Given the description of an element on the screen output the (x, y) to click on. 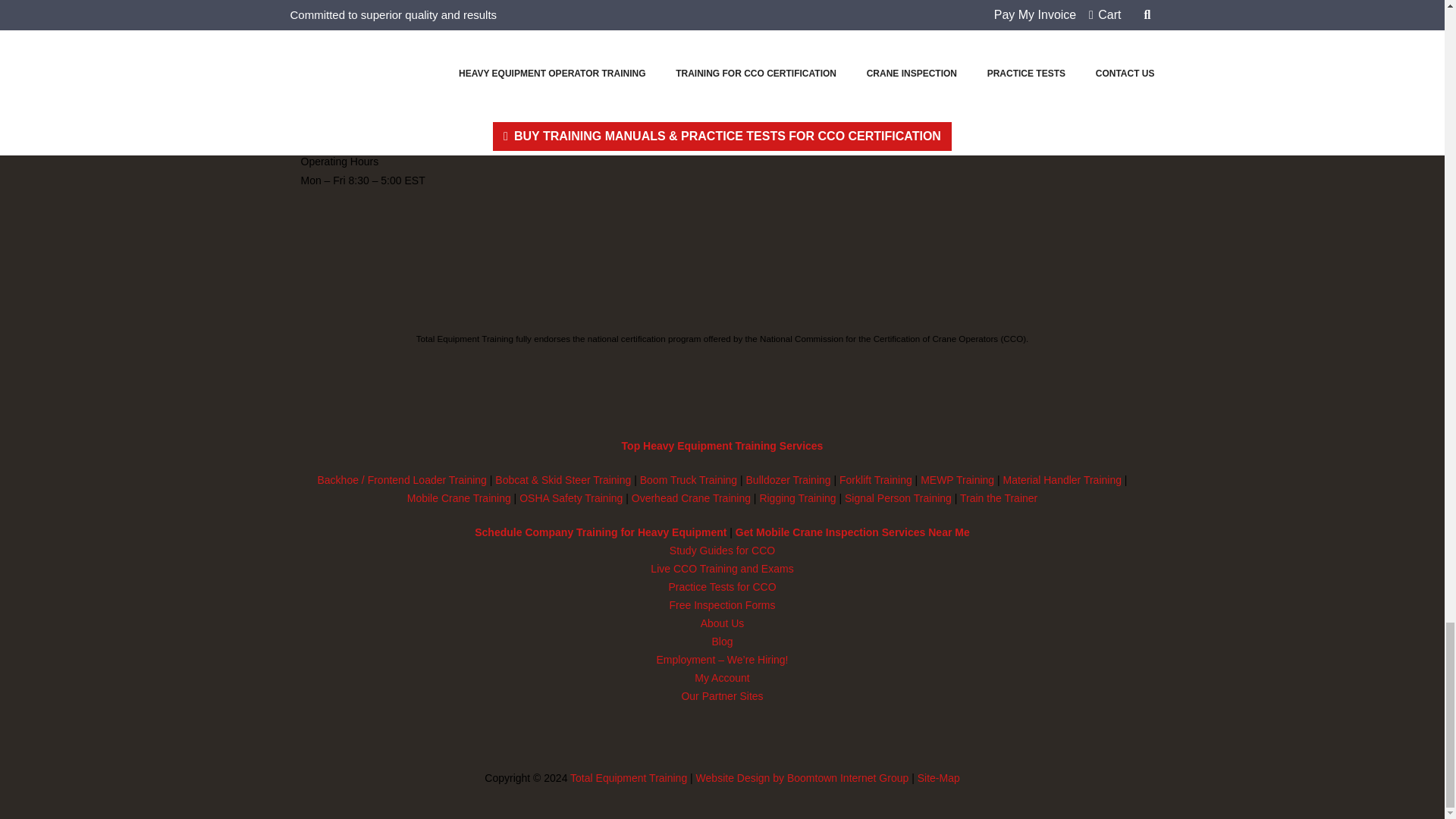
Contact Total Equipment Training (335, 48)
